Given the description of an element on the screen output the (x, y) to click on. 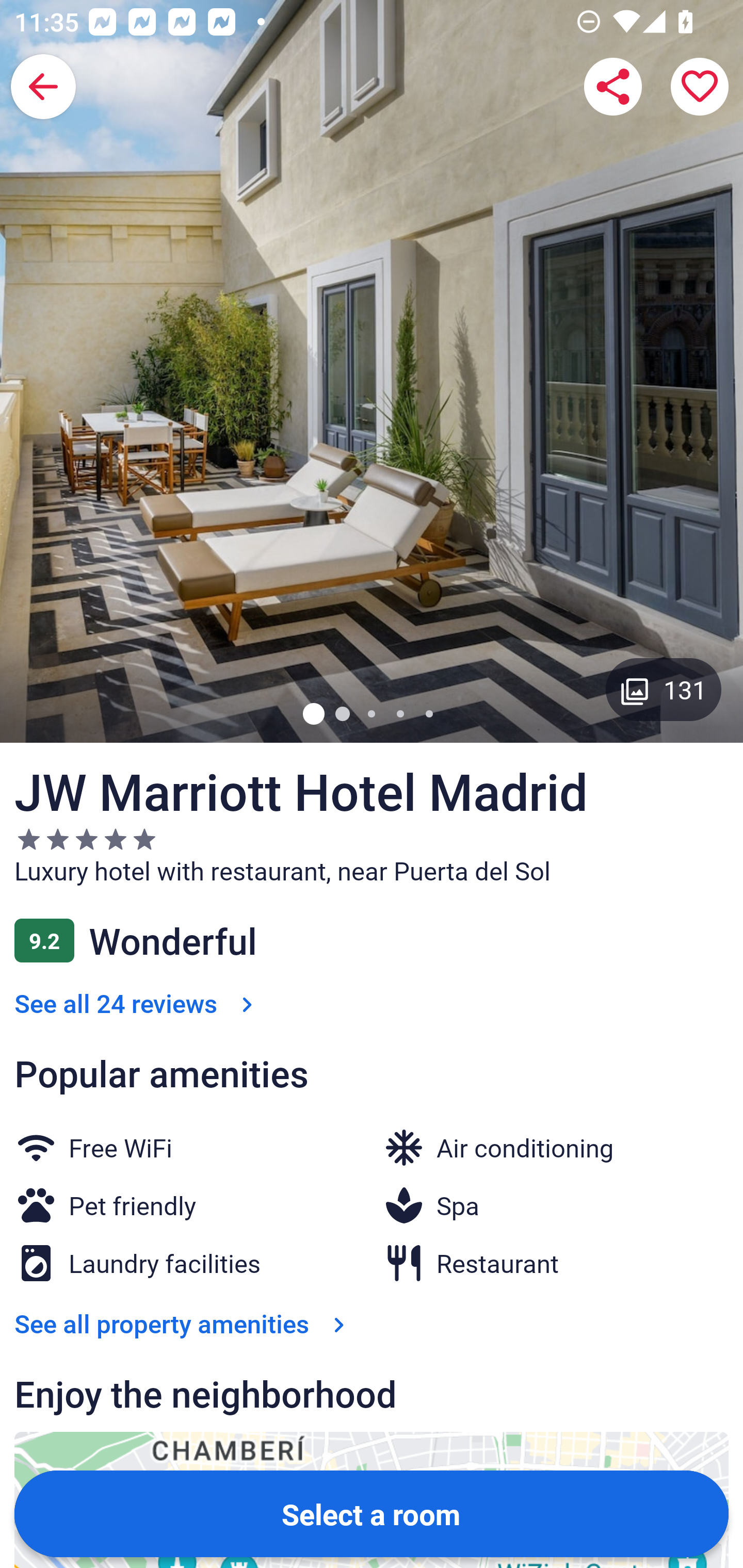
Back (43, 86)
Save property to a trip (699, 86)
Share JW Marriott Hotel Madrid (612, 87)
Gallery button with 131 images (663, 689)
See all 24 reviews See all 24 reviews Link (137, 1002)
See all property amenities (183, 1323)
Select a room Button Select a room (371, 1513)
